Given the description of an element on the screen output the (x, y) to click on. 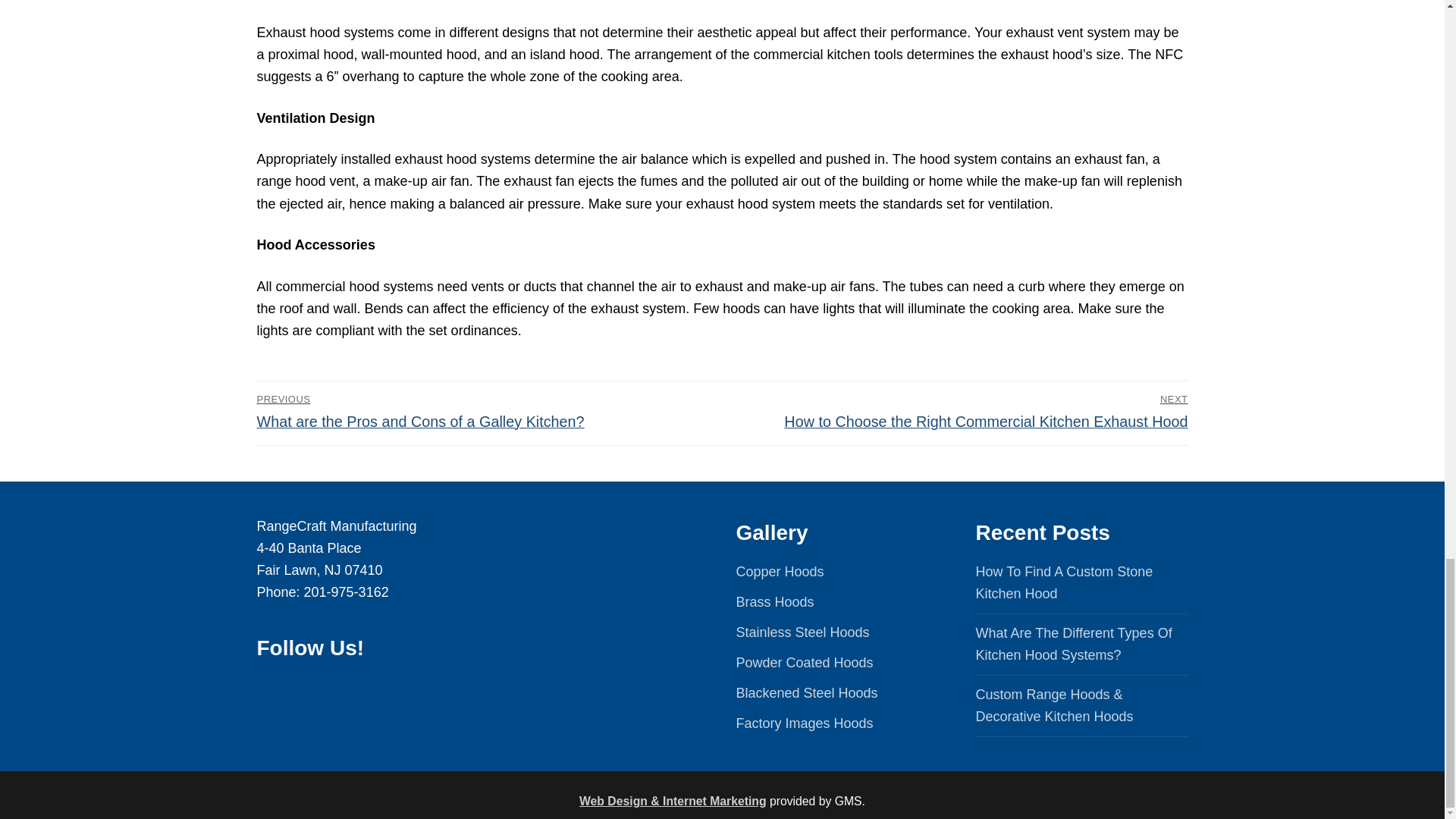
Follow Us on LinkedIn (300, 689)
Follow Us on YouTube (331, 689)
Follow Us on Facebook (268, 689)
Follow Us on Yelp (426, 689)
Follow Us on Twitter (363, 689)
Follow Us on Instagram (395, 689)
RangeCraft.com Location (601, 610)
